Given the description of an element on the screen output the (x, y) to click on. 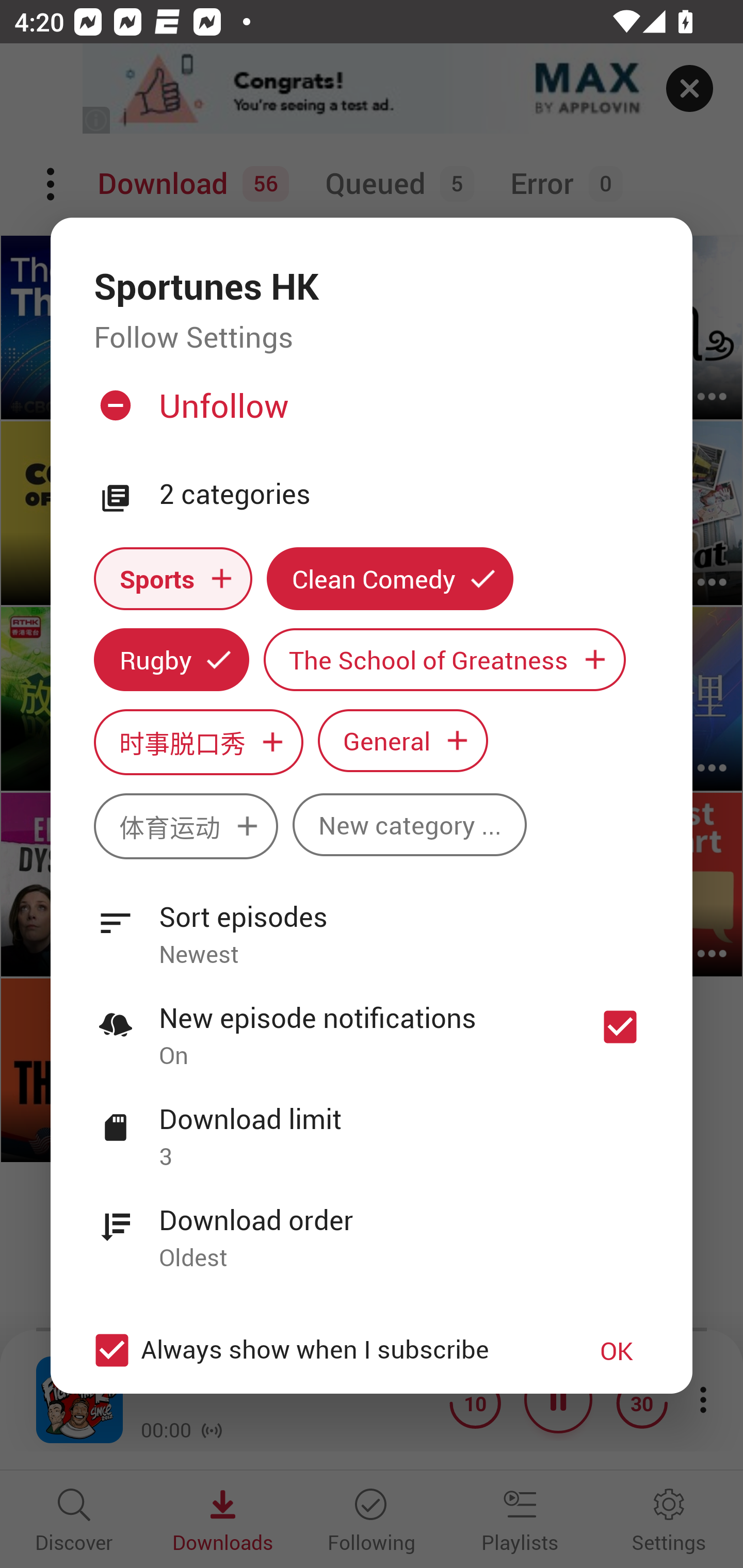
Unfollow (369, 413)
2 categories (404, 494)
Sports (172, 578)
Clean Comedy (389, 578)
Rugby (170, 659)
The School of Greatness (444, 659)
时事脱口秀 (198, 741)
General (403, 739)
体育运动 (185, 826)
New category ... (409, 824)
Sort episodes Newest (371, 924)
New episode notifications (620, 1026)
Download limit 3 (371, 1126)
Download order Oldest (371, 1227)
OK (616, 1350)
Always show when I subscribe (320, 1350)
